Given the description of an element on the screen output the (x, y) to click on. 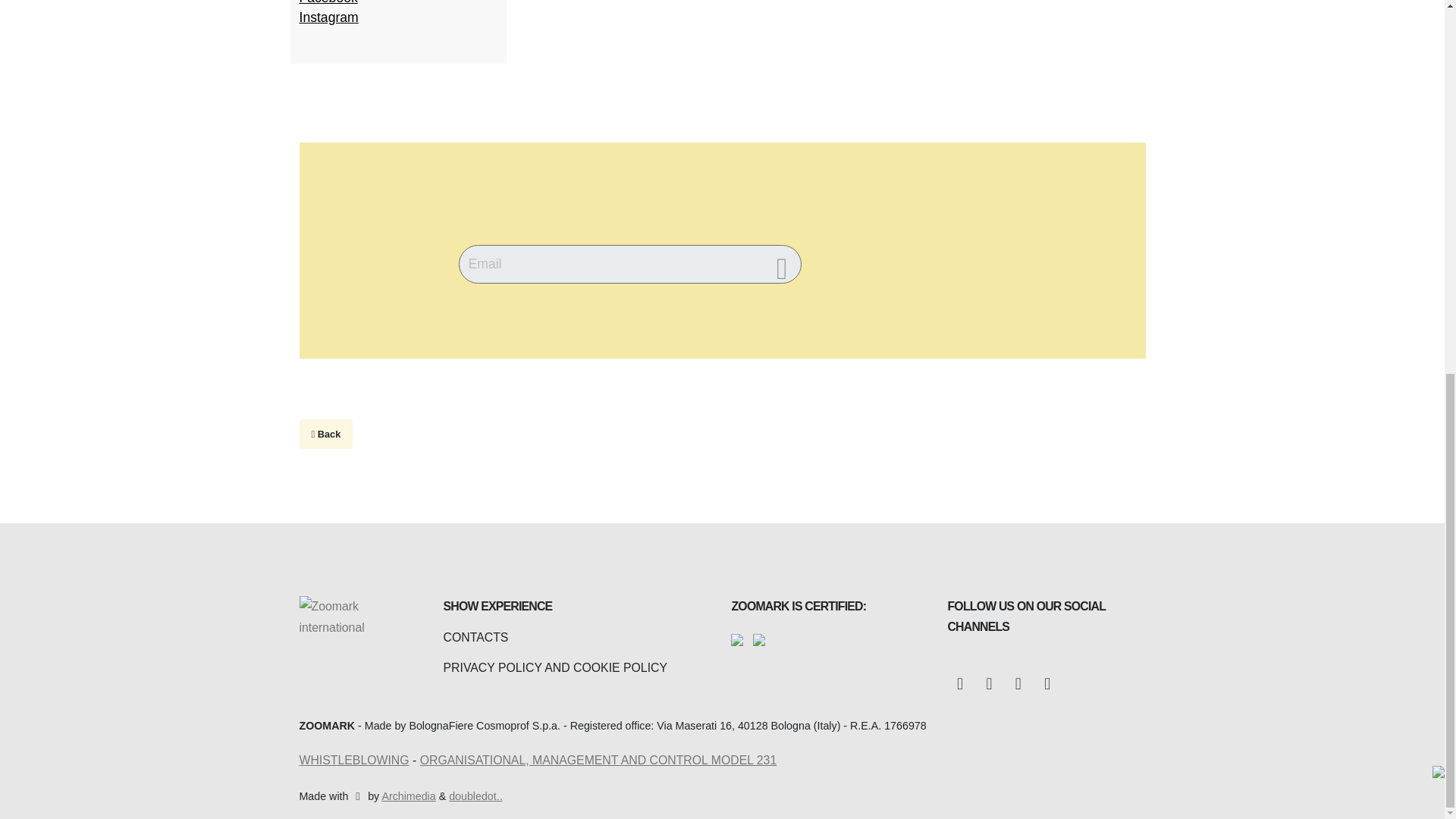
instagram (1047, 684)
Facebook (959, 684)
STUDIO DI COMUNICAZIONE (475, 796)
Inbound marketing Agency Rovigo Italy (408, 796)
Linkedin (988, 684)
youtube (1018, 684)
